Given the description of an element on the screen output the (x, y) to click on. 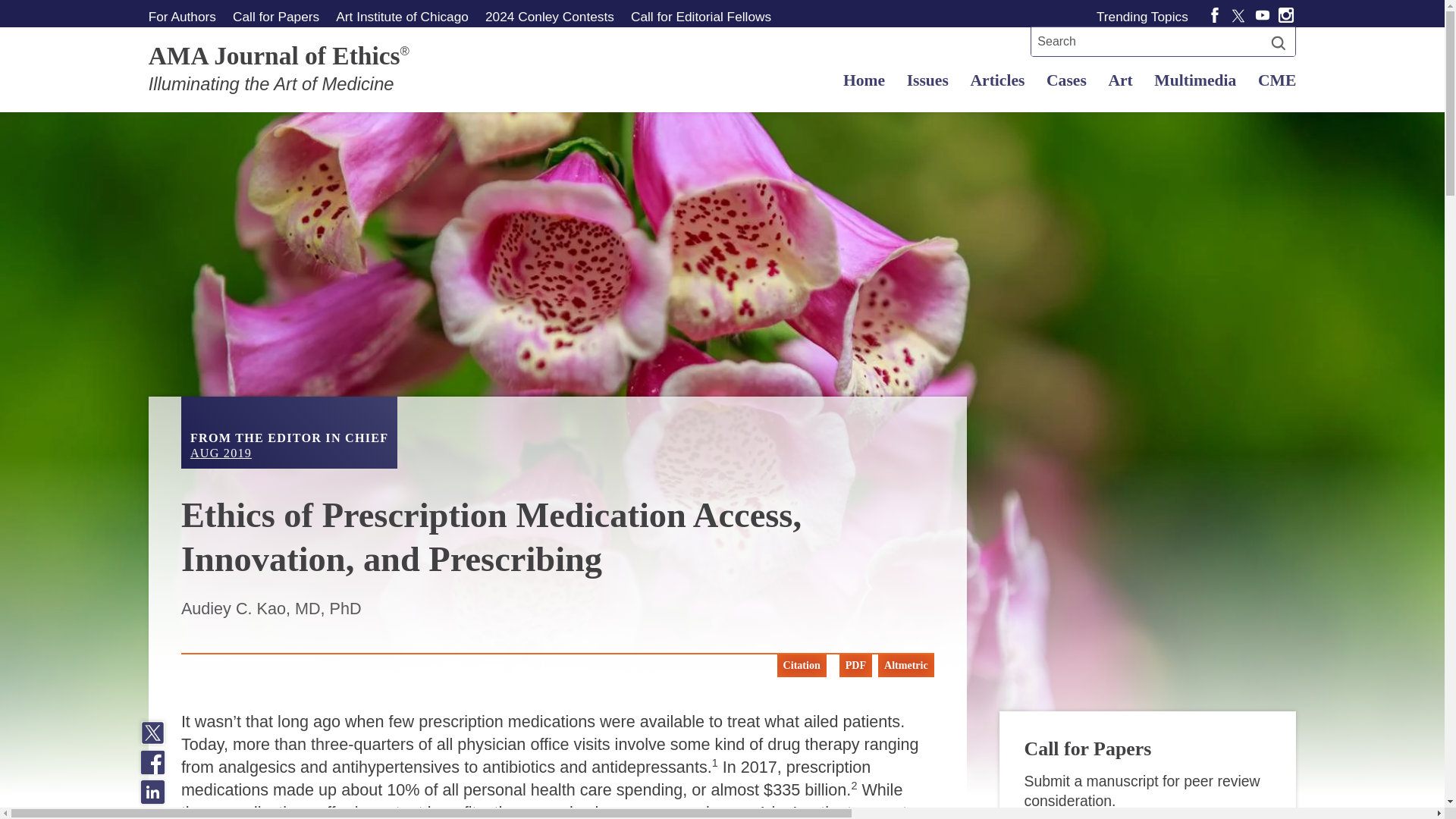
For Authors (185, 15)
See the upcoming theme issues (274, 15)
Call for Papers (274, 15)
PDF (852, 665)
Author information (185, 15)
Cases (1065, 80)
PDF (856, 665)
Call for Editorial Fellows (700, 15)
Search (1278, 42)
Search (1278, 42)
Issues (927, 80)
Home (863, 80)
CME (1272, 80)
